Given the description of an element on the screen output the (x, y) to click on. 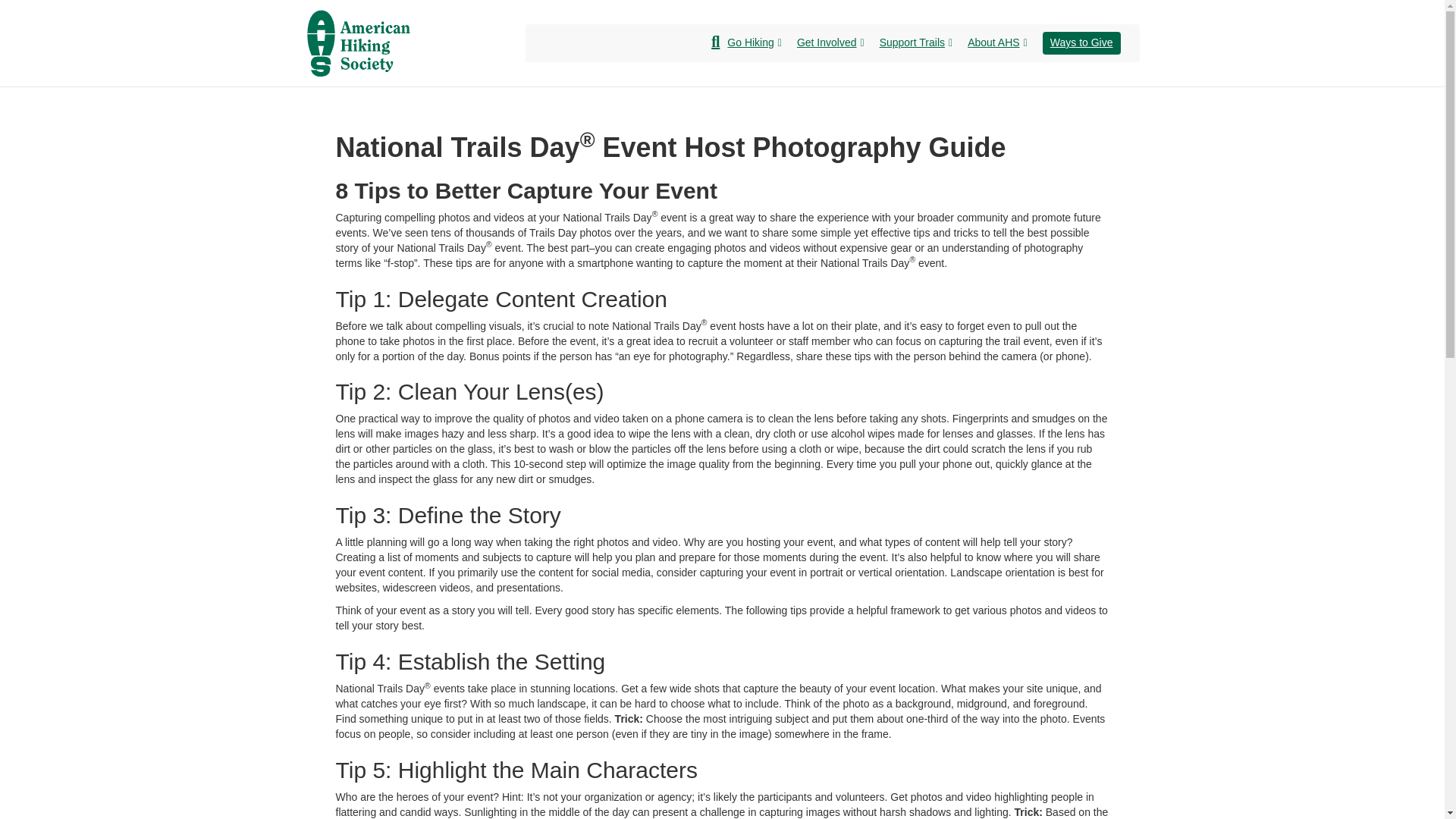
Get Involved (830, 43)
Go Hiking (754, 43)
